Given the description of an element on the screen output the (x, y) to click on. 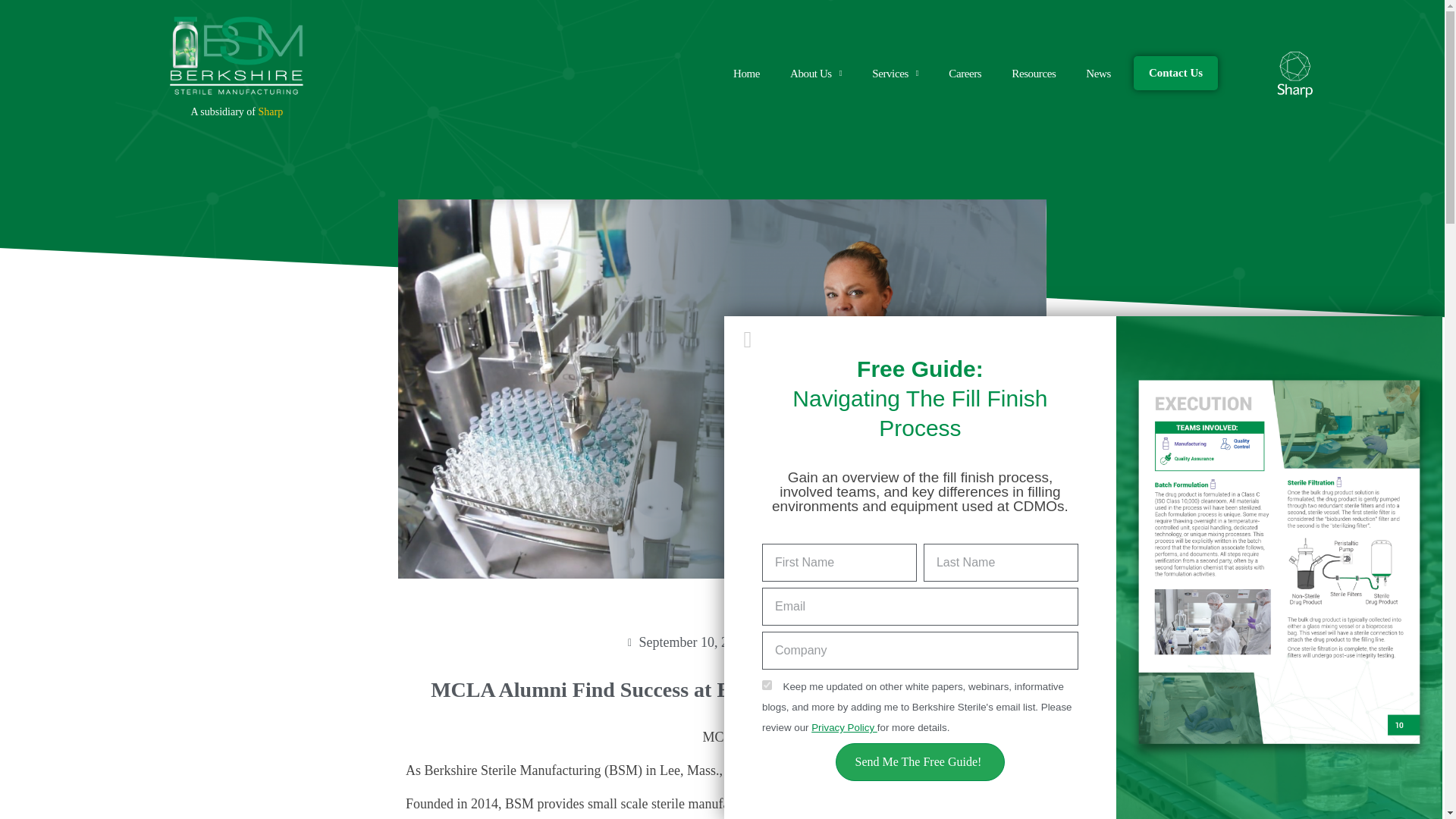
Careers (964, 73)
Resources (1032, 73)
Sharp (269, 111)
Home (745, 73)
About Us (815, 73)
News (1097, 73)
Services (895, 73)
on (766, 685)
